Given the description of an element on the screen output the (x, y) to click on. 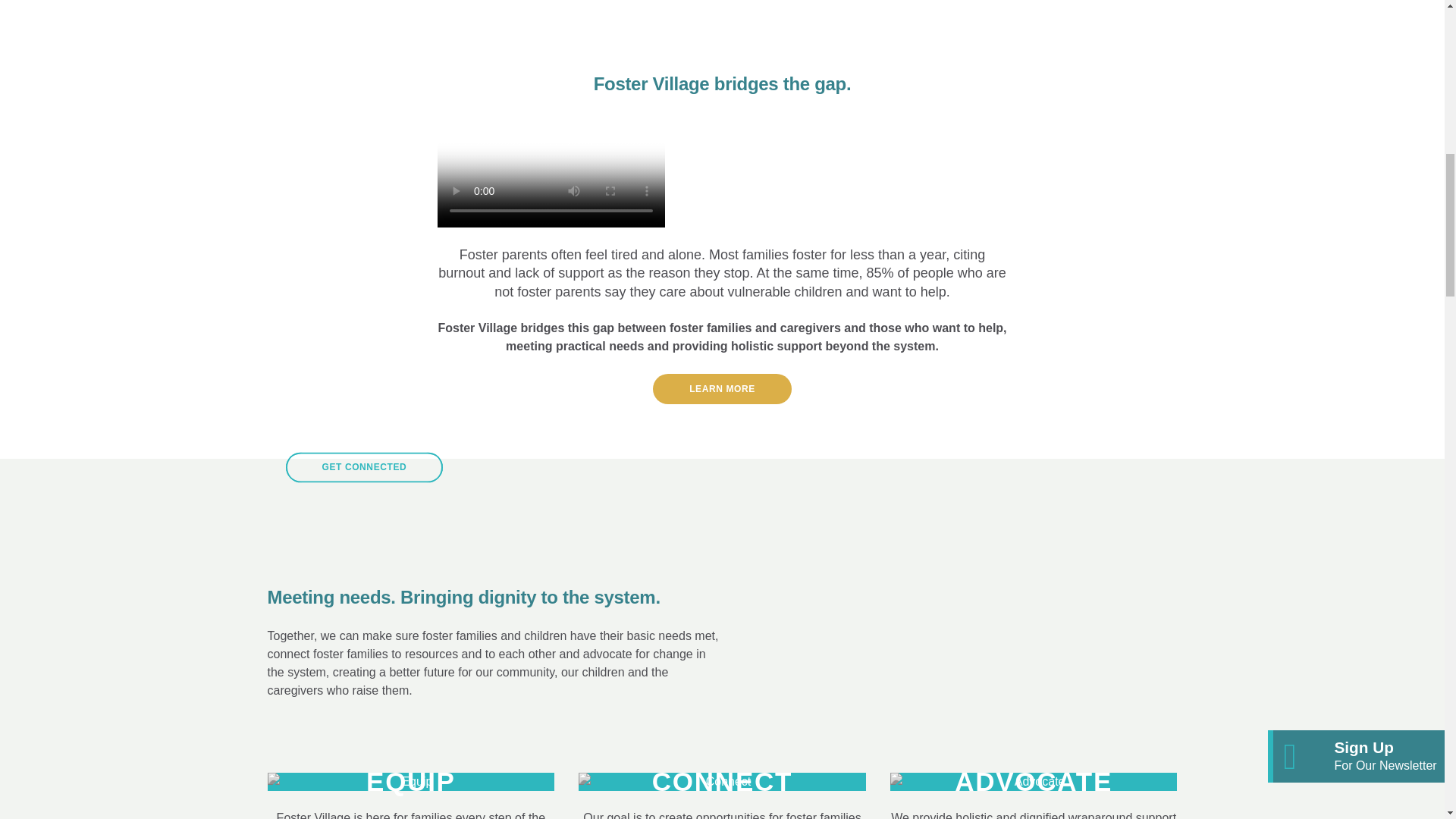
GET CONNECTED (363, 467)
